Given the description of an element on the screen output the (x, y) to click on. 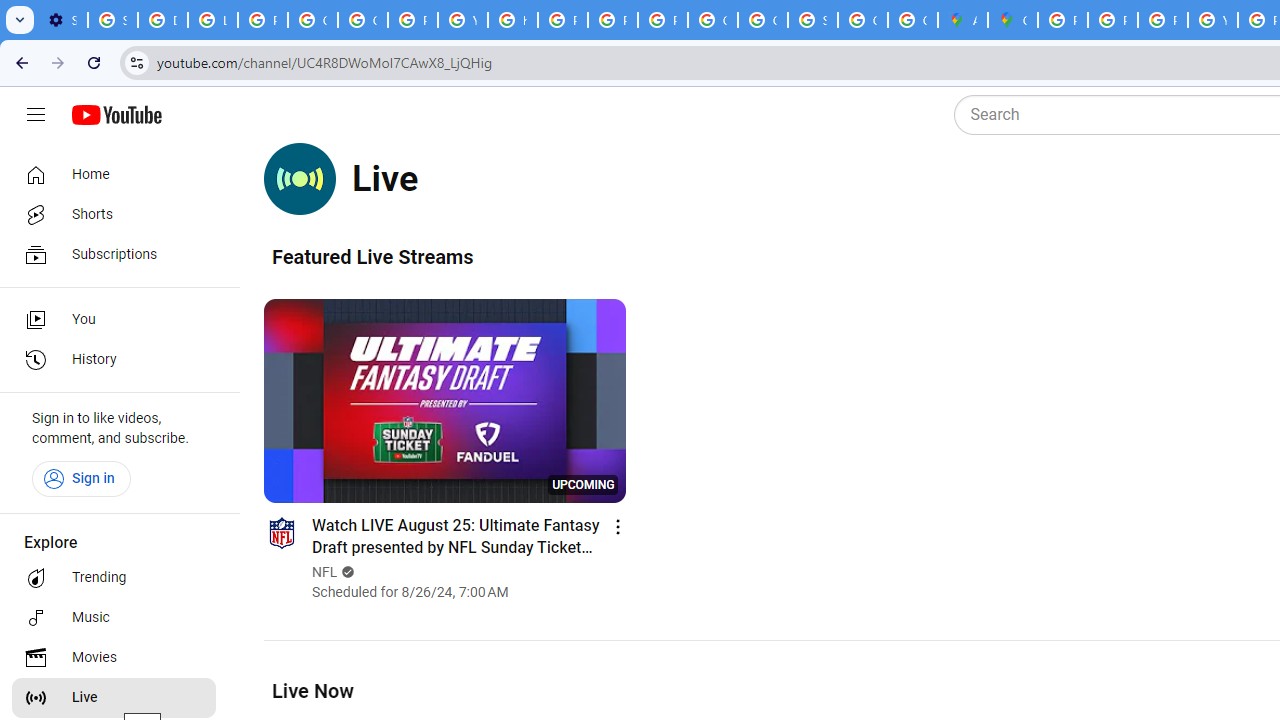
YouTube Home (116, 115)
Google Maps (1013, 20)
Action menu (617, 526)
Live Now (312, 690)
YouTube (1212, 20)
YouTube (462, 20)
Privacy Help Center - Policies Help (1112, 20)
Create your Google Account (913, 20)
Trending (113, 578)
Learn how to find your photos - Google Photos Help (213, 20)
